Given the description of an element on the screen output the (x, y) to click on. 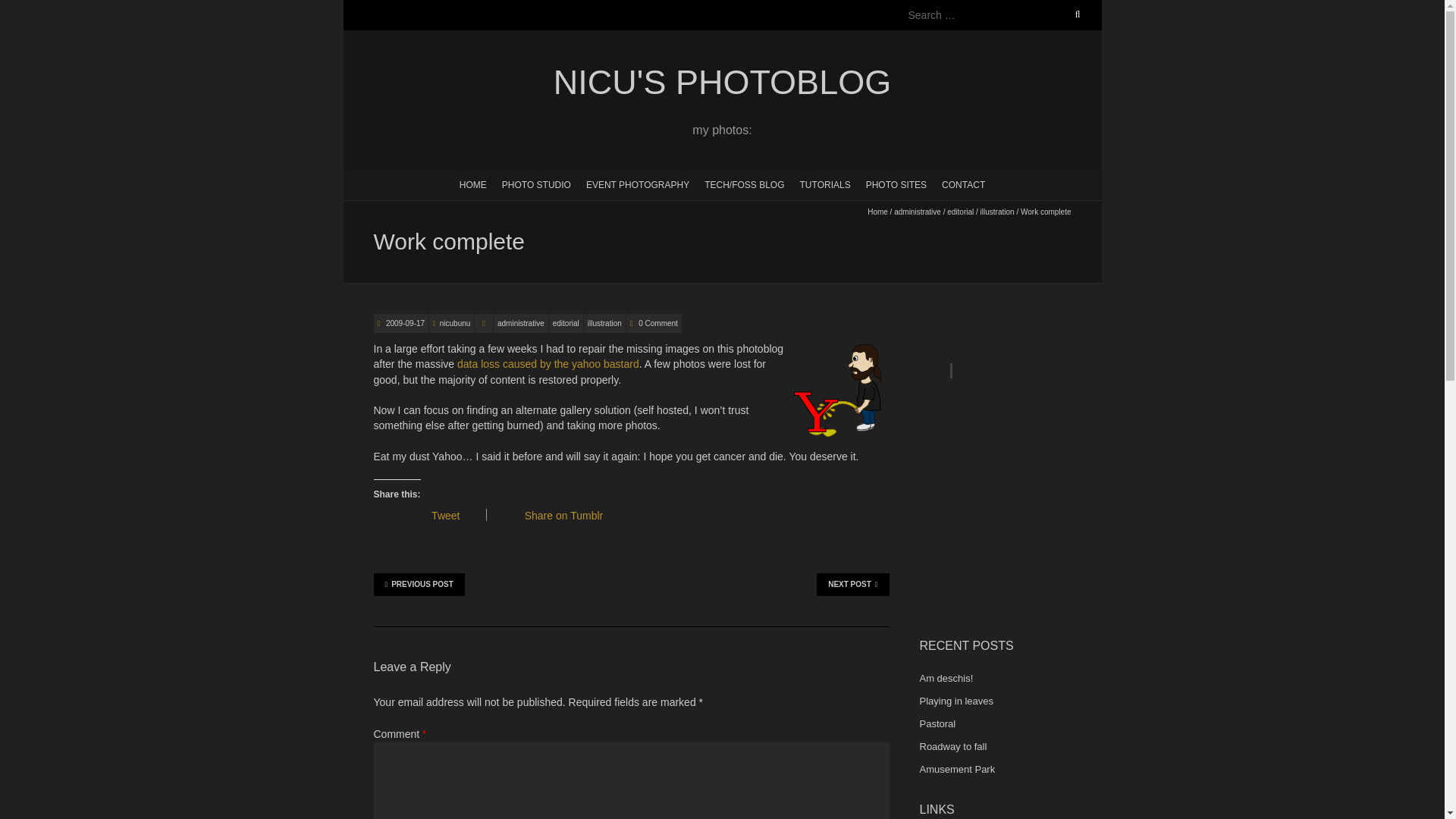
Tweet (451, 515)
CONTACT (963, 184)
PHOTO SITES (896, 184)
Amusement Park (956, 768)
View all posts by nicubunu (454, 323)
Search (28, 9)
editorial (565, 322)
nicubunu (454, 323)
TUTORIALS (825, 184)
Am deschis! (945, 677)
